Given the description of an element on the screen output the (x, y) to click on. 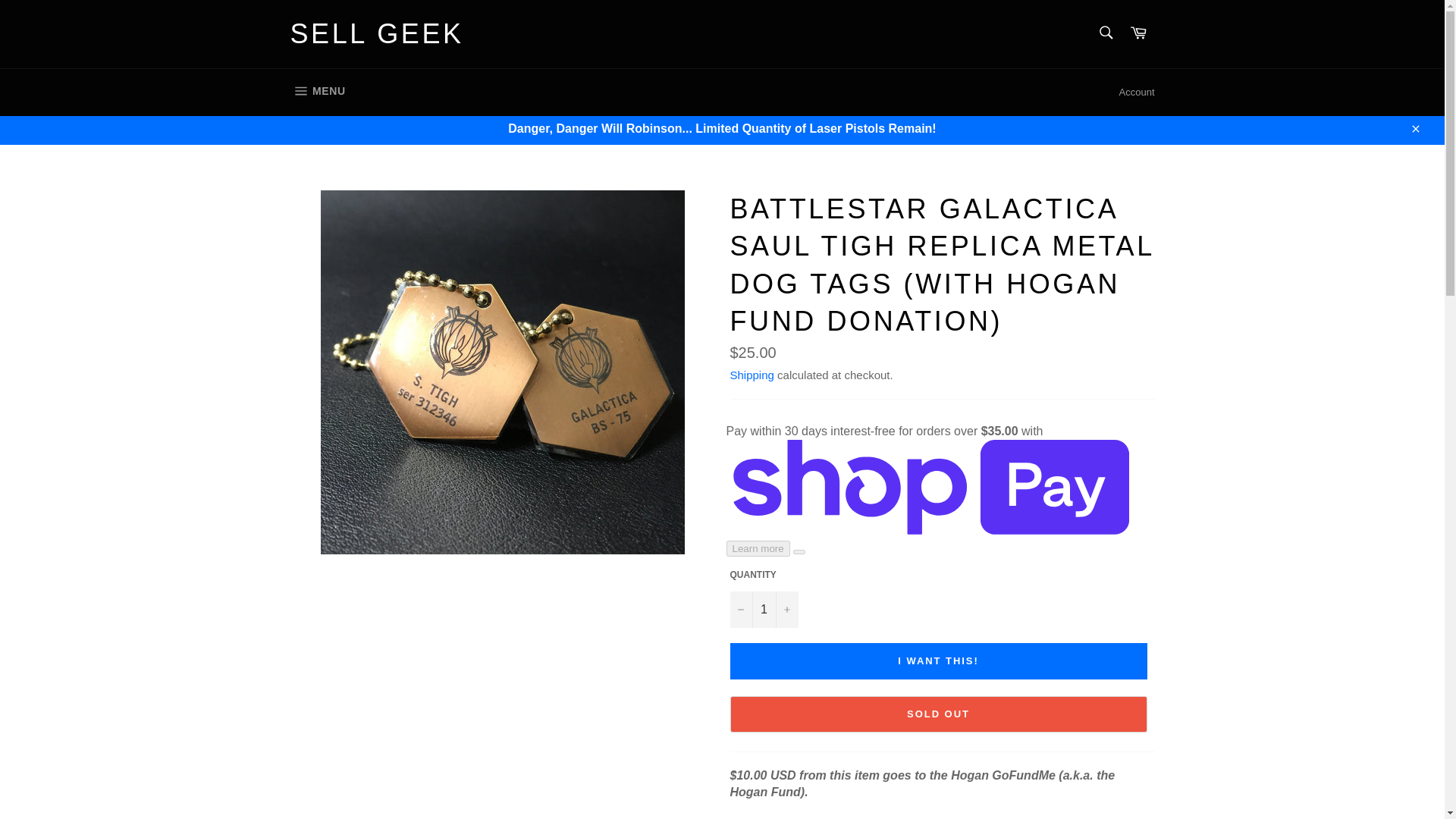
1 (317, 91)
Cart (763, 609)
SELL GEEK (1138, 33)
Search (376, 34)
